Given the description of an element on the screen output the (x, y) to click on. 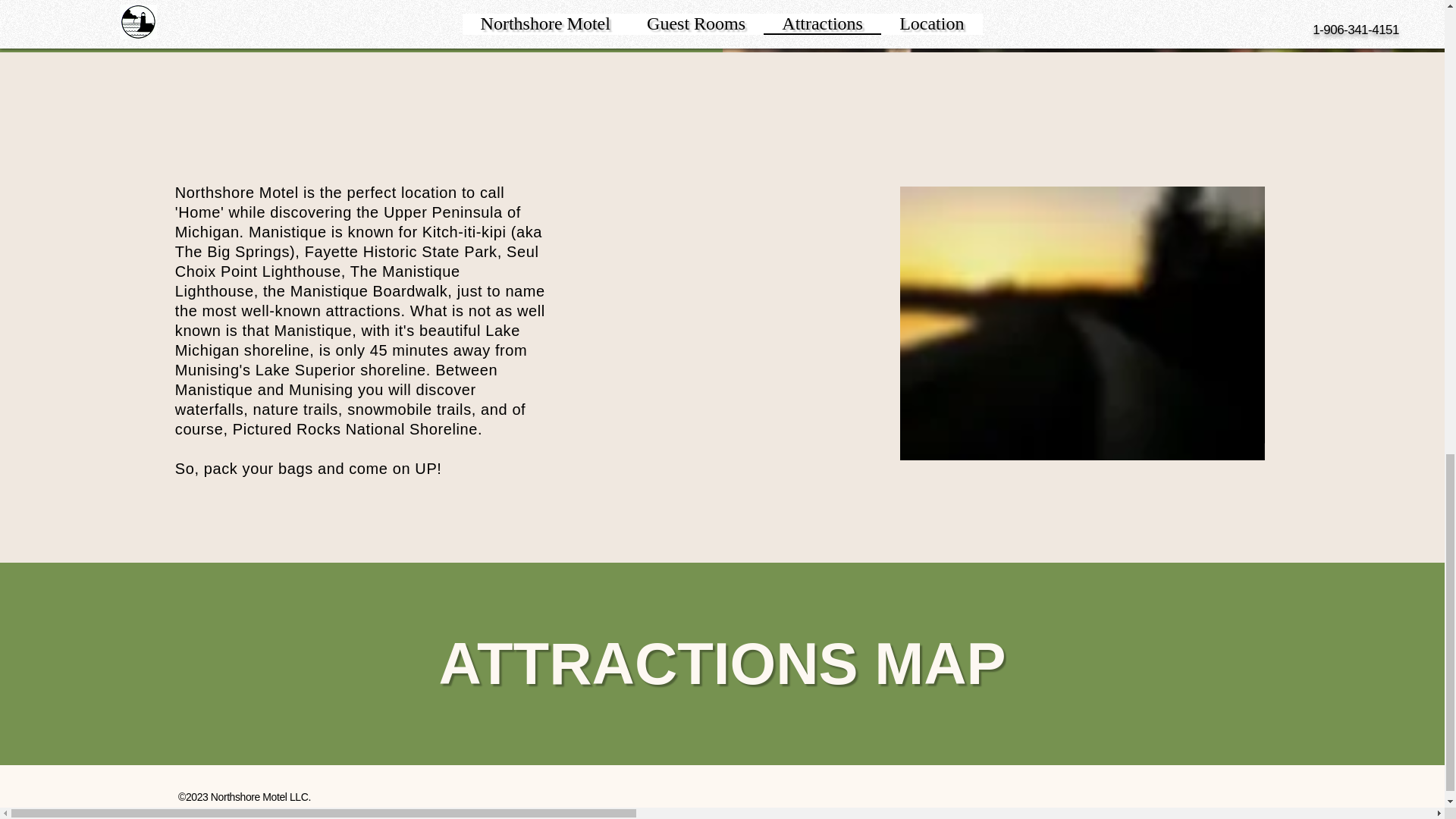
ATTRACTIONS MAP (721, 663)
